Given the description of an element on the screen output the (x, y) to click on. 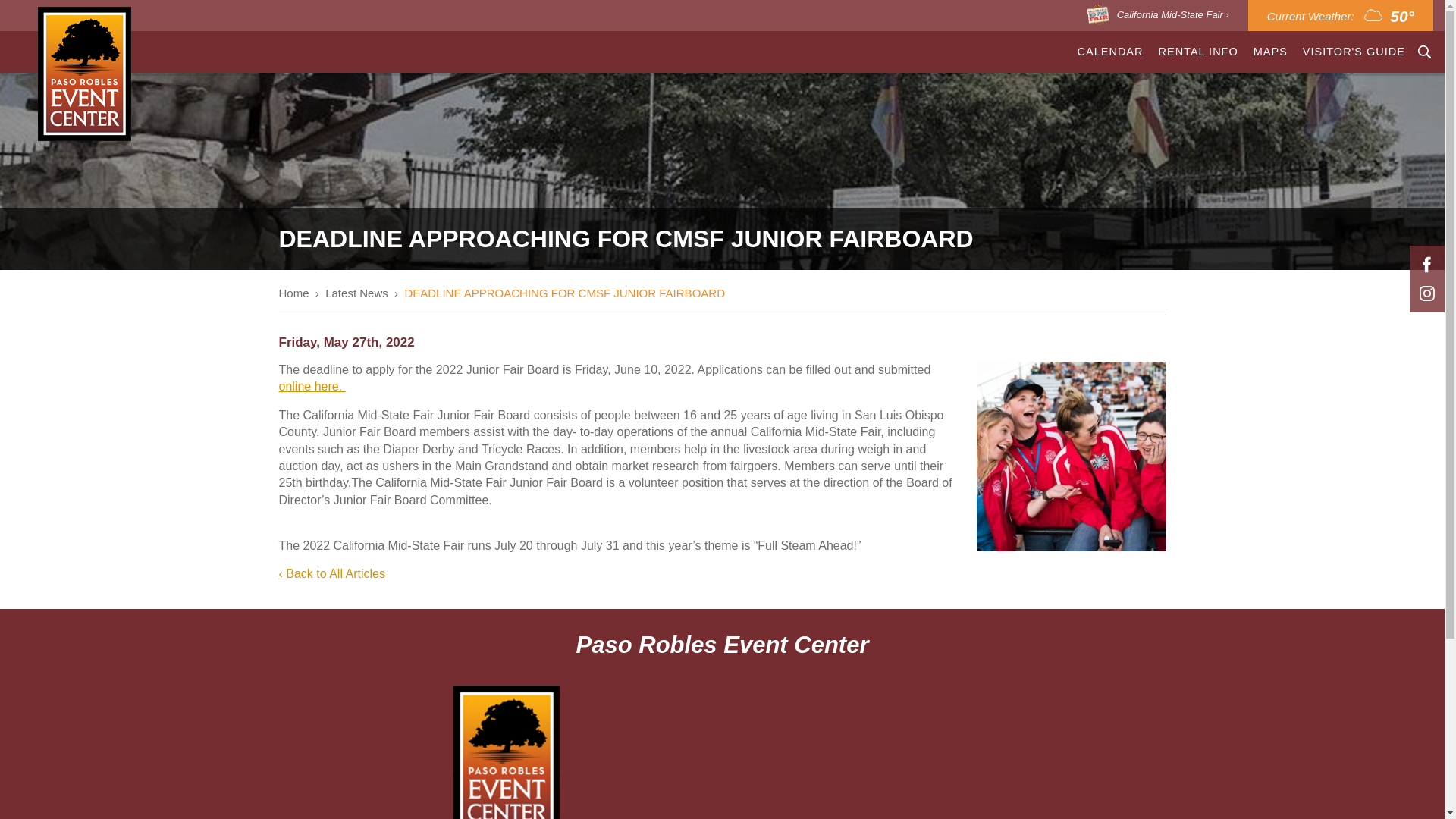
MAPS (1270, 51)
Facebook (1426, 264)
VISITOR'S GUIDE (1353, 51)
Instagram (1426, 293)
Paso Robles Event Center (84, 73)
RENTAL INFO (1198, 51)
Instagram (1426, 293)
SEARCH (1423, 51)
CALENDAR (1110, 51)
Facebook (1426, 264)
